Given the description of an element on the screen output the (x, y) to click on. 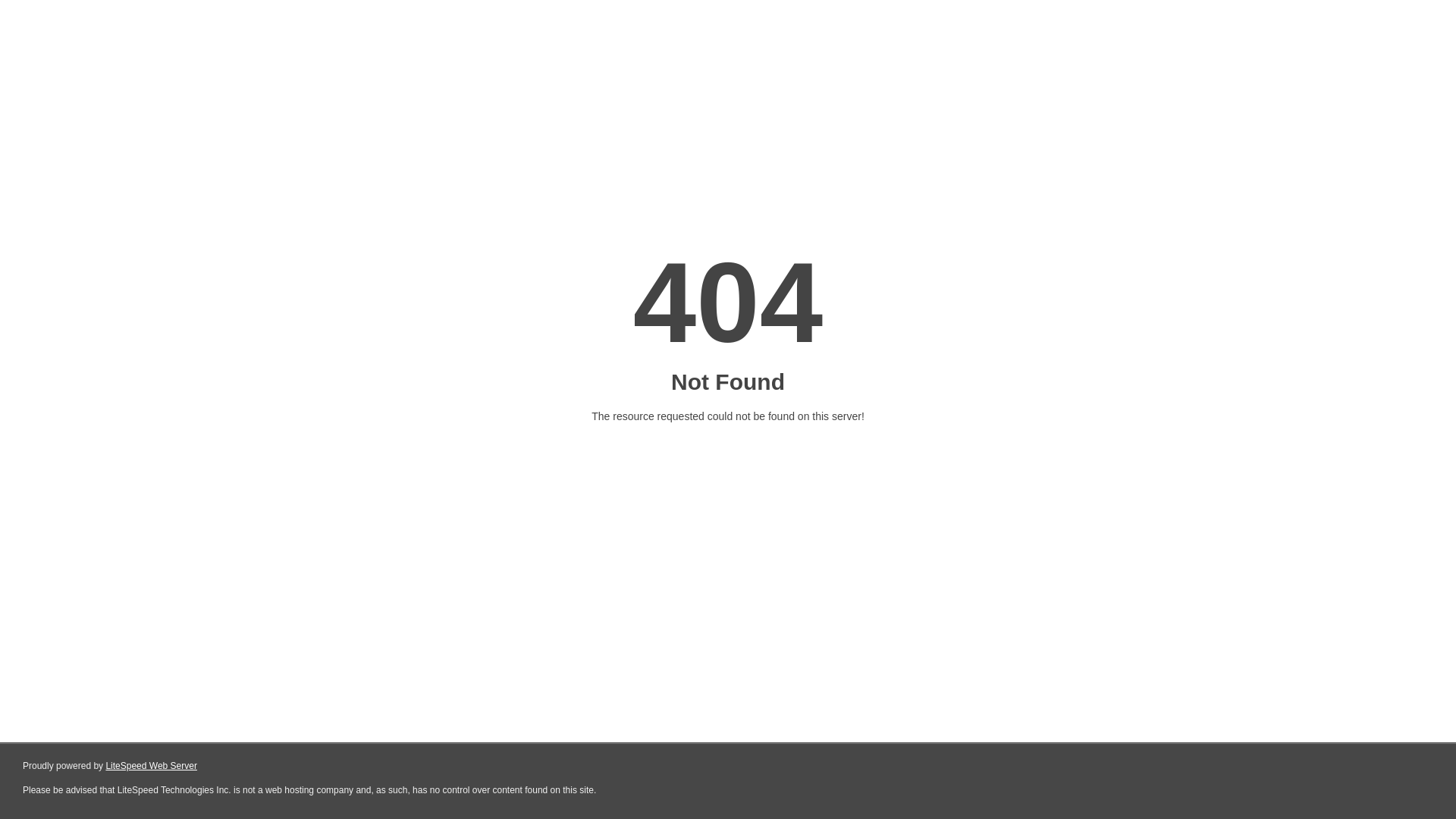
LiteSpeed Web Server Element type: text (151, 765)
